Given the description of an element on the screen output the (x, y) to click on. 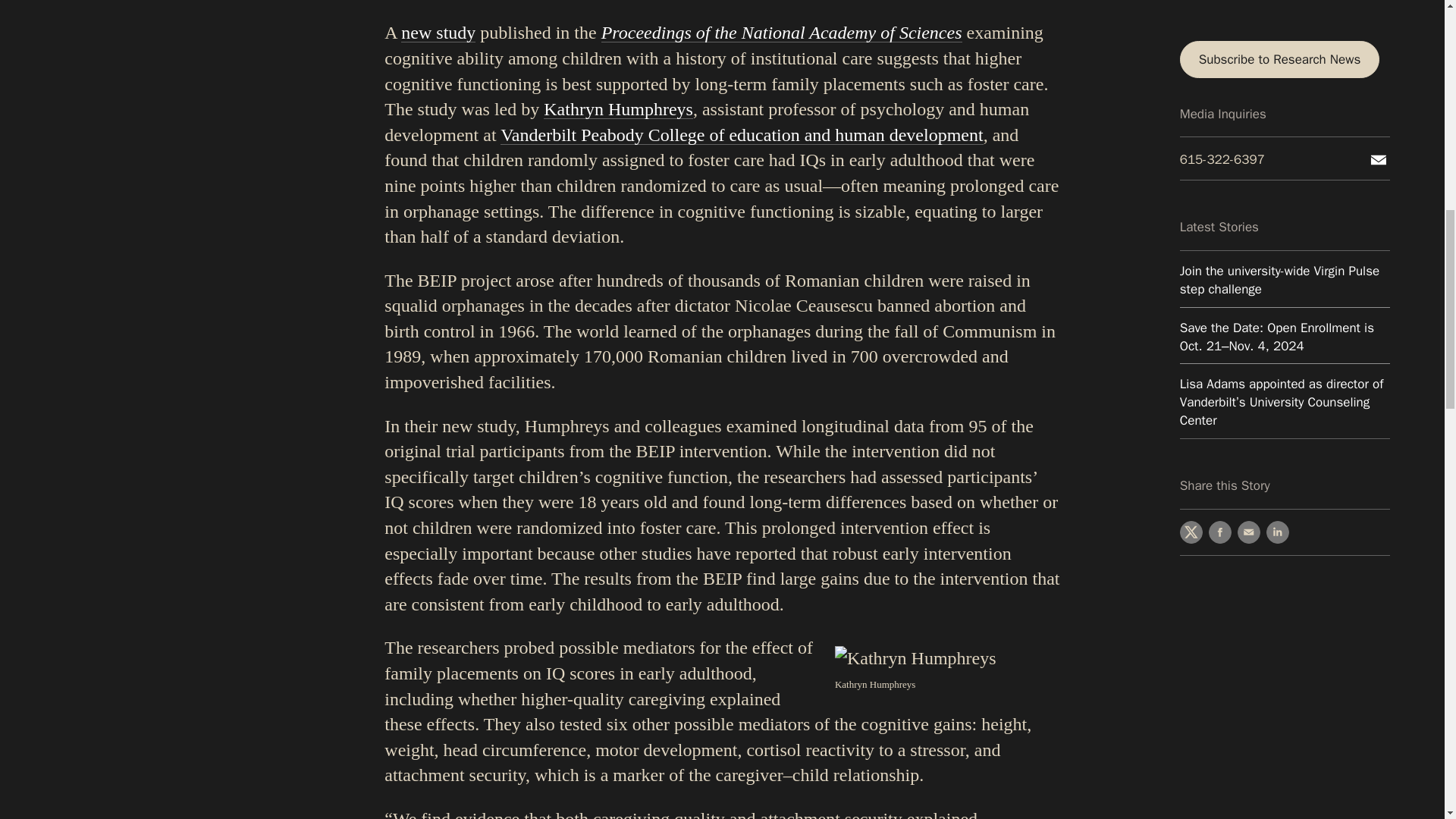
Kathryn Humphreys (618, 108)
LinkedIn (1277, 219)
new study (438, 32)
Facebook (1219, 219)
Twitter (1190, 219)
Email (1248, 219)
Proceedings of the National Academy of Sciences (781, 32)
